Given the description of an element on the screen output the (x, y) to click on. 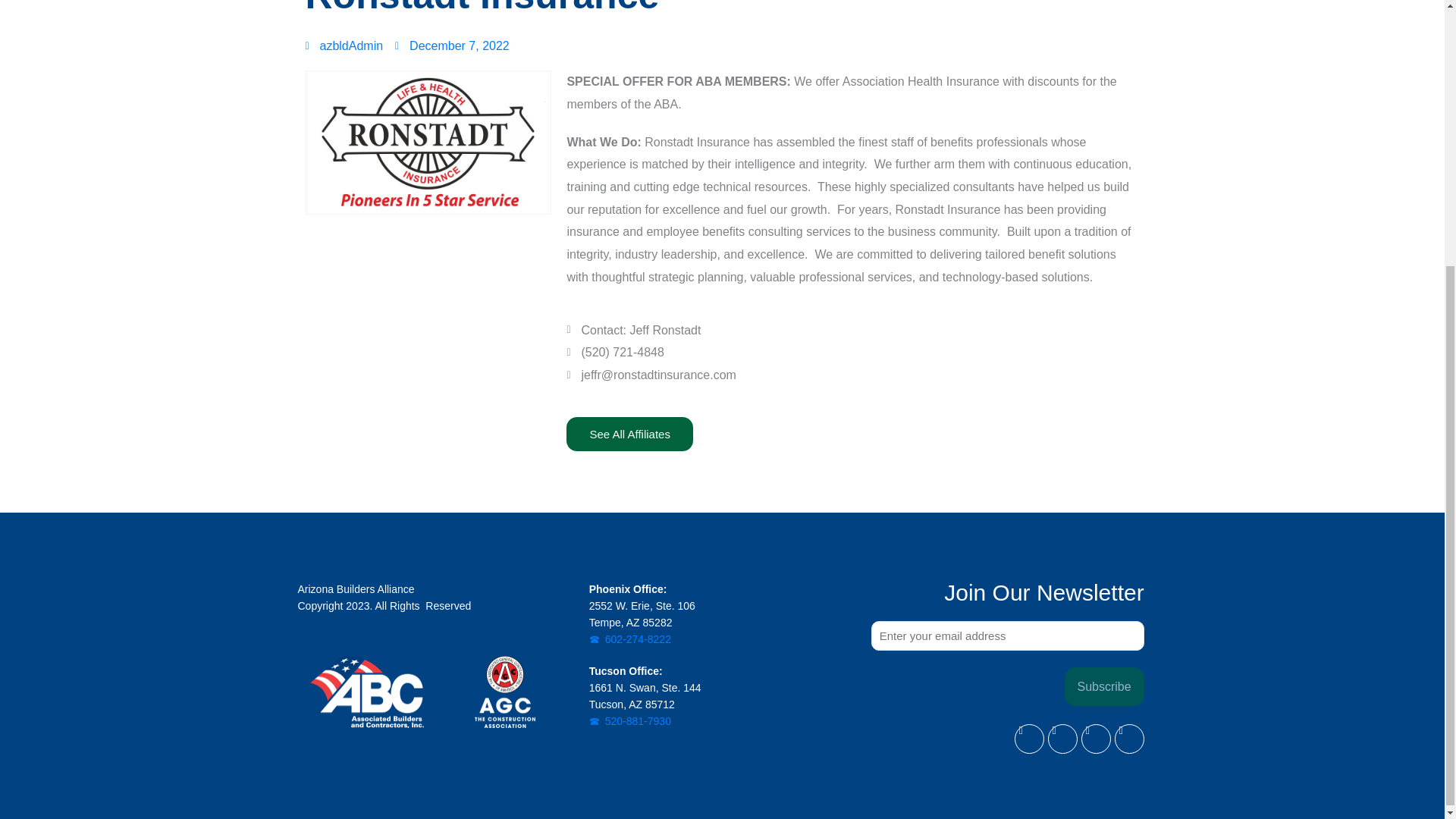
Subscribe (1104, 686)
